Given the description of an element on the screen output the (x, y) to click on. 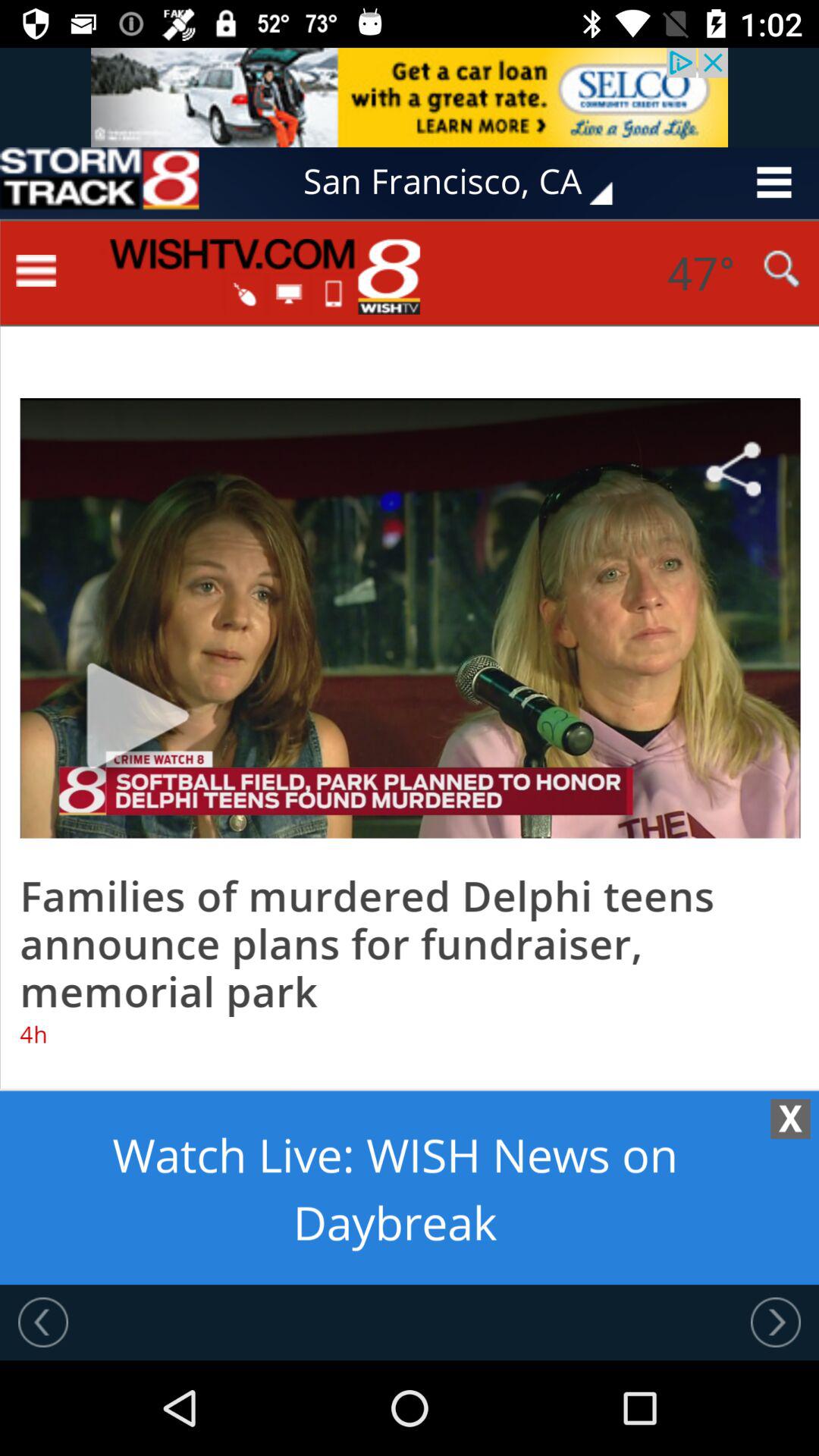
make advertisement (409, 751)
